Given the description of an element on the screen output the (x, y) to click on. 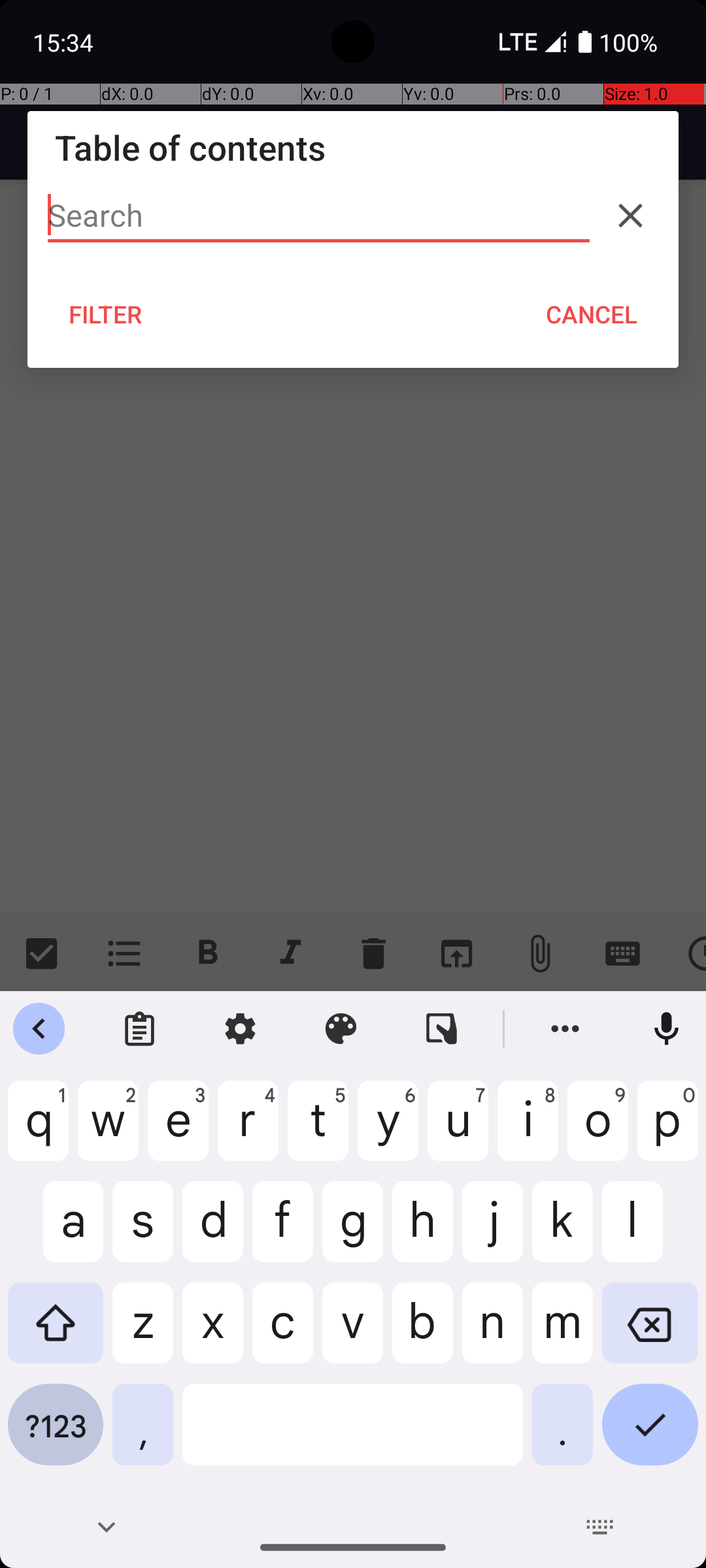
FILTER Element type: android.widget.Button (105, 313)
